Given the description of an element on the screen output the (x, y) to click on. 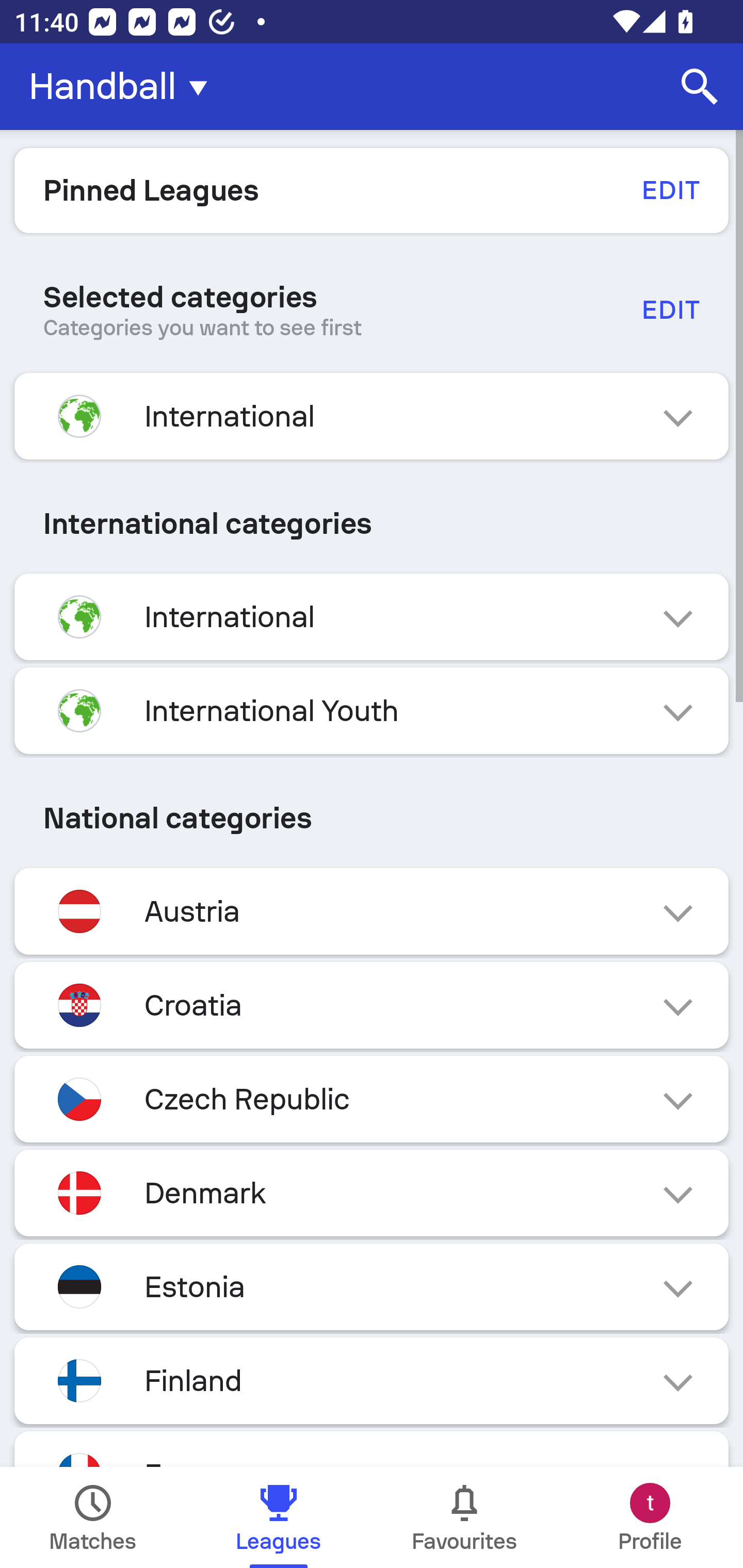
Handball (124, 86)
Search (699, 86)
Pinned Leagues EDIT (371, 190)
EDIT (670, 190)
EDIT (670, 309)
International (371, 416)
International categories (371, 523)
International (371, 616)
International Youth (371, 710)
National categories (371, 817)
Austria (371, 911)
Croatia (371, 1004)
Czech Republic (371, 1099)
Denmark (371, 1192)
Estonia (371, 1286)
Finland (371, 1380)
Matches (92, 1517)
Favourites (464, 1517)
Profile (650, 1517)
